Given the description of an element on the screen output the (x, y) to click on. 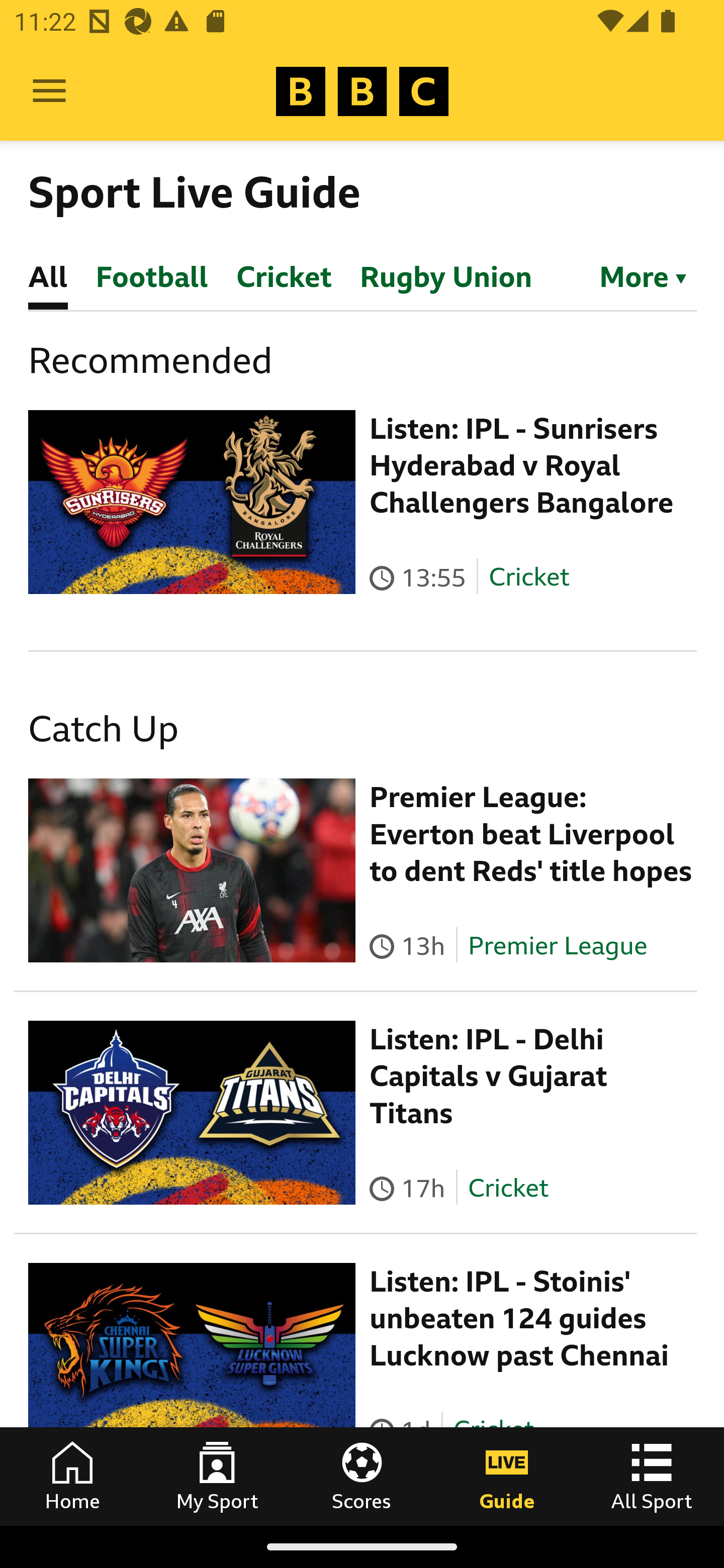
Open Menu (49, 91)
Cricket (528, 576)
Premier League (557, 945)
Listen: IPL - Delhi Capitals v Gujarat Titans (488, 1076)
Cricket (507, 1186)
Home (72, 1475)
My Sport (216, 1475)
Scores (361, 1475)
All Sport (651, 1475)
